Given the description of an element on the screen output the (x, y) to click on. 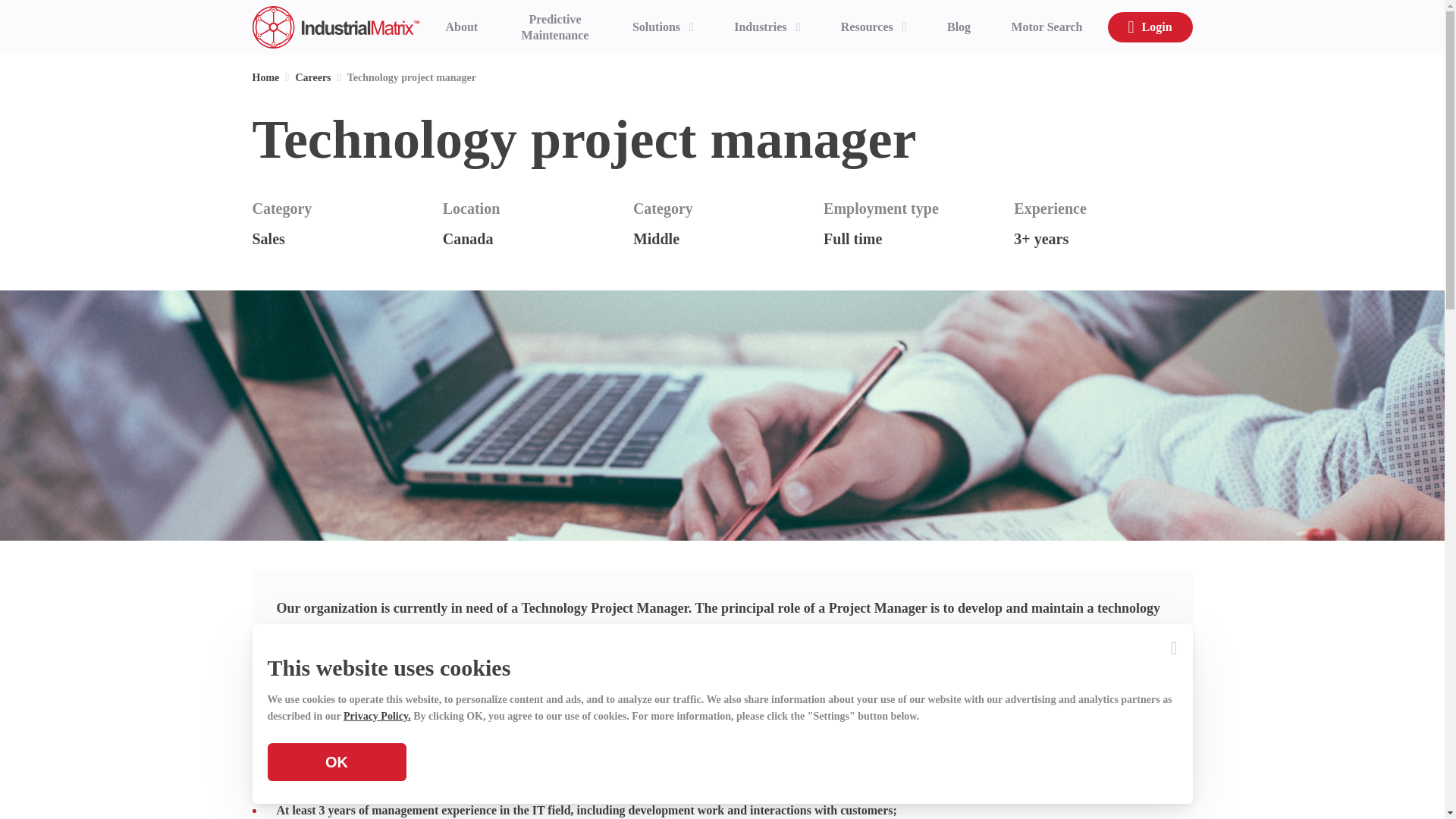
About (461, 27)
OK (336, 761)
Motor Search (1045, 27)
Industries (766, 27)
Login (1149, 27)
Privacy Policy. (376, 715)
Resources (873, 27)
Careers (312, 77)
Predictive Maintenance (555, 27)
Home (265, 77)
